Given the description of an element on the screen output the (x, y) to click on. 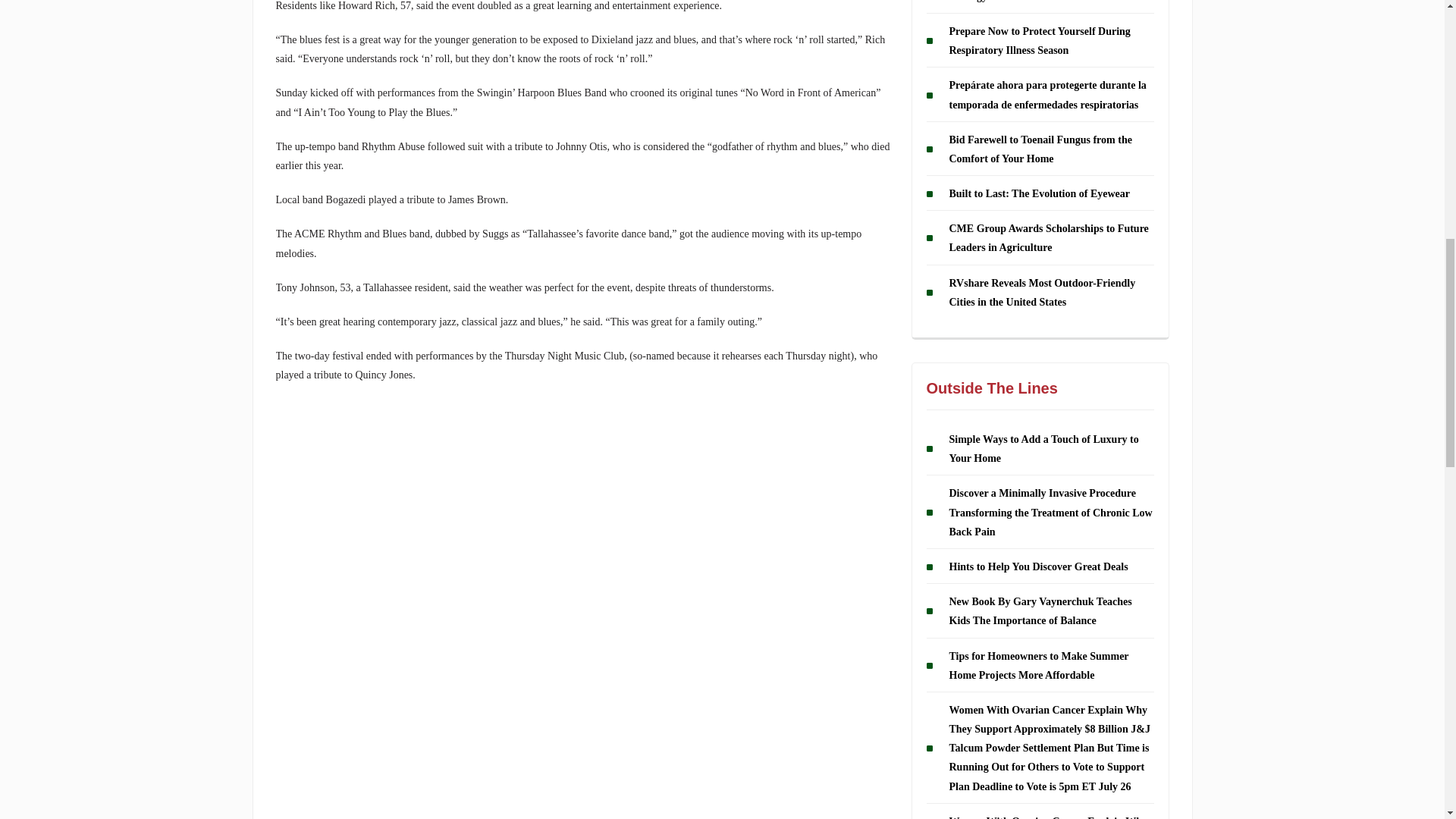
Bid Farewell to Toenail Fungus from the Comfort of Your Home (1040, 149)
Creating an American Techno-Industrial Strategy (1041, 1)
Bid Farewell to Toenail Fungus from the Comfort of Your Home (1040, 149)
Built to Last: The Evolution of Eyewear (1040, 193)
Simple Ways to Add a Touch of Luxury to Your Home (1043, 449)
